Given the description of an element on the screen output the (x, y) to click on. 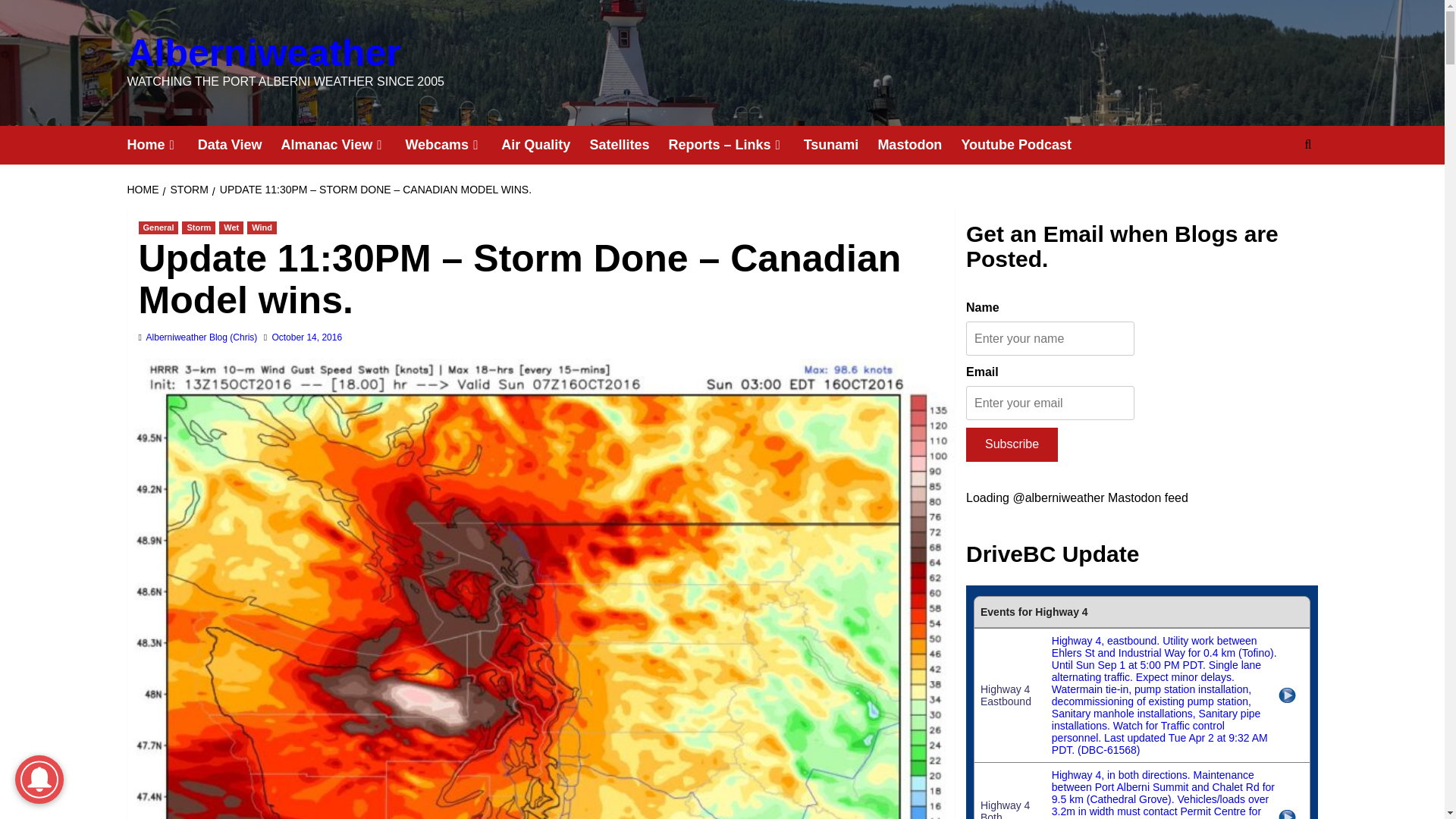
Subscribe (1012, 444)
Alberniweather (264, 52)
Satellites (628, 145)
Air Quality (544, 145)
BC Highway 4 (1141, 702)
Home (163, 145)
Almanac View (342, 145)
Data View (239, 145)
Webcams (452, 145)
